Given the description of an element on the screen output the (x, y) to click on. 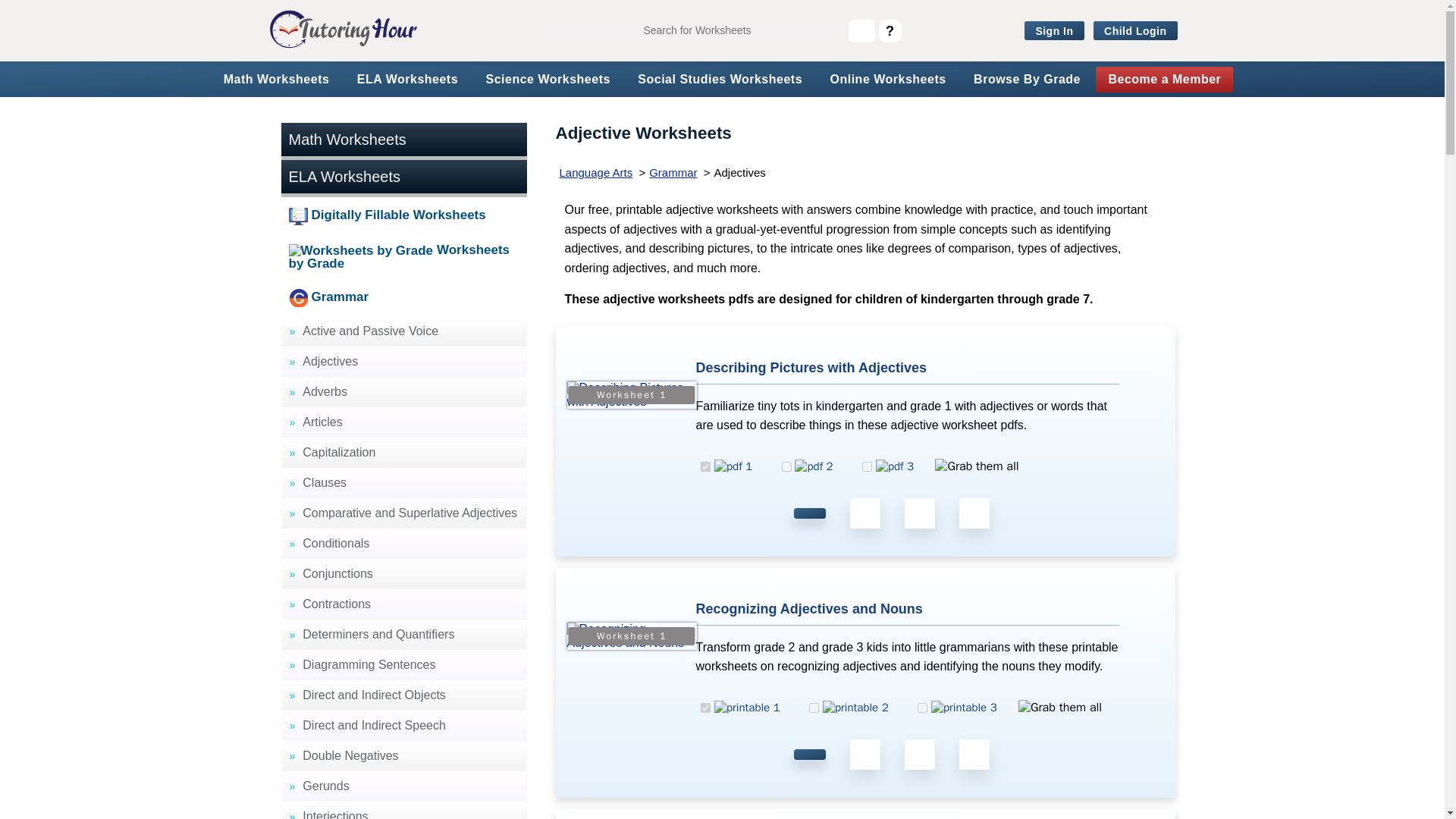
on (922, 707)
on (705, 707)
Sign In (1053, 30)
Child Login (1135, 30)
on (705, 466)
on (866, 466)
on (813, 707)
on (786, 466)
Digitally Fillable Worksheets (403, 215)
